Given the description of an element on the screen output the (x, y) to click on. 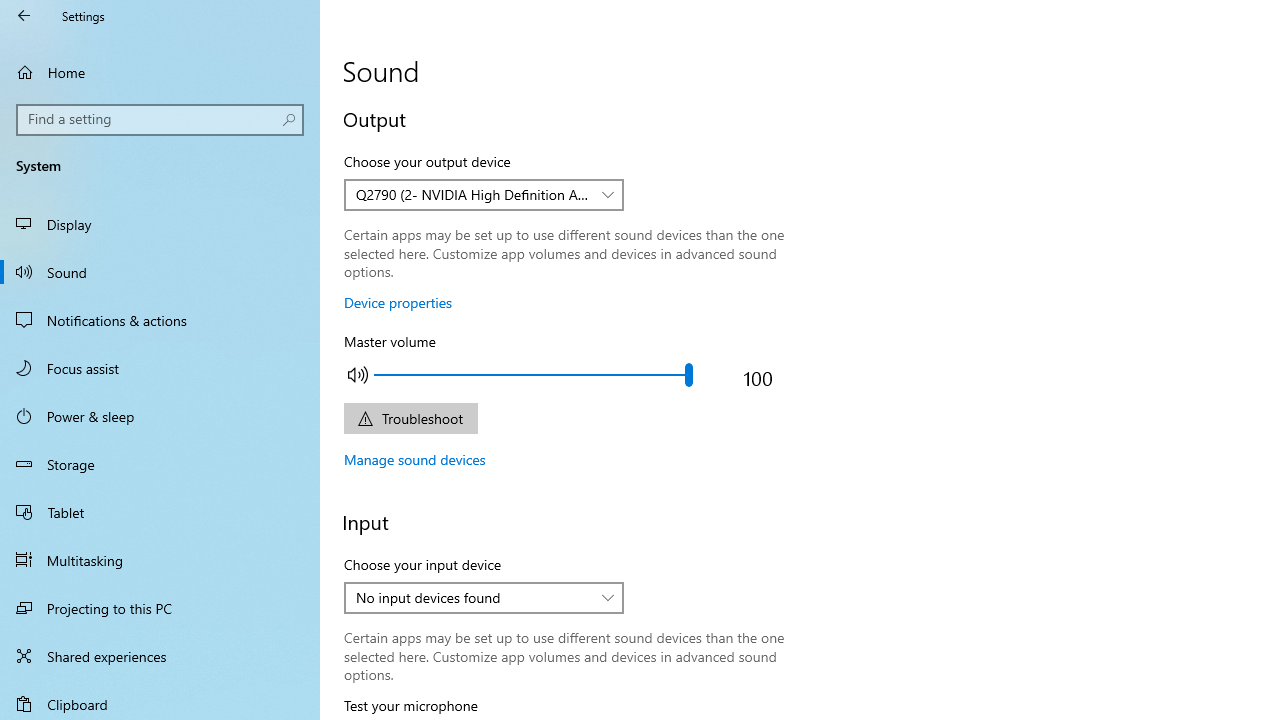
Projecting to this PC (160, 607)
Manage sound devices (415, 459)
Device properties (397, 302)
Display (160, 223)
Power & sleep (160, 415)
Sound (160, 271)
Adjust the master output volume (532, 374)
Mute master volume (358, 374)
Multitasking (160, 559)
Tablet (160, 511)
No input devices found (473, 597)
Q2790 (2- NVIDIA High Definition Audio) (473, 194)
Shared experiences (160, 655)
Focus assist (160, 367)
